Given the description of an element on the screen output the (x, y) to click on. 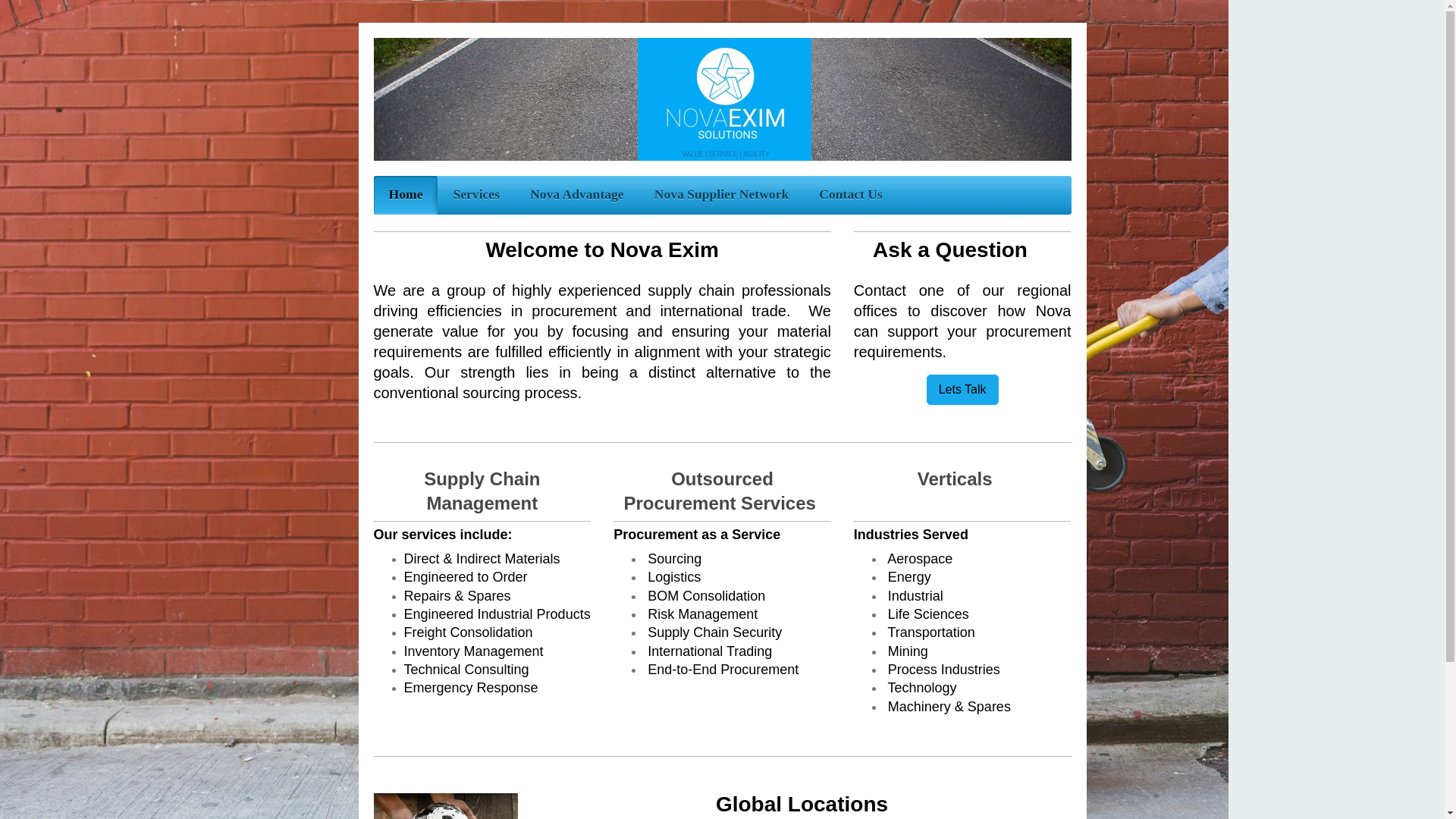
Lets Talk (962, 389)
Nova Supplier Network (722, 195)
Nova Advantage (577, 195)
Services (476, 195)
Contact Us (850, 195)
Home (405, 195)
